Given the description of an element on the screen output the (x, y) to click on. 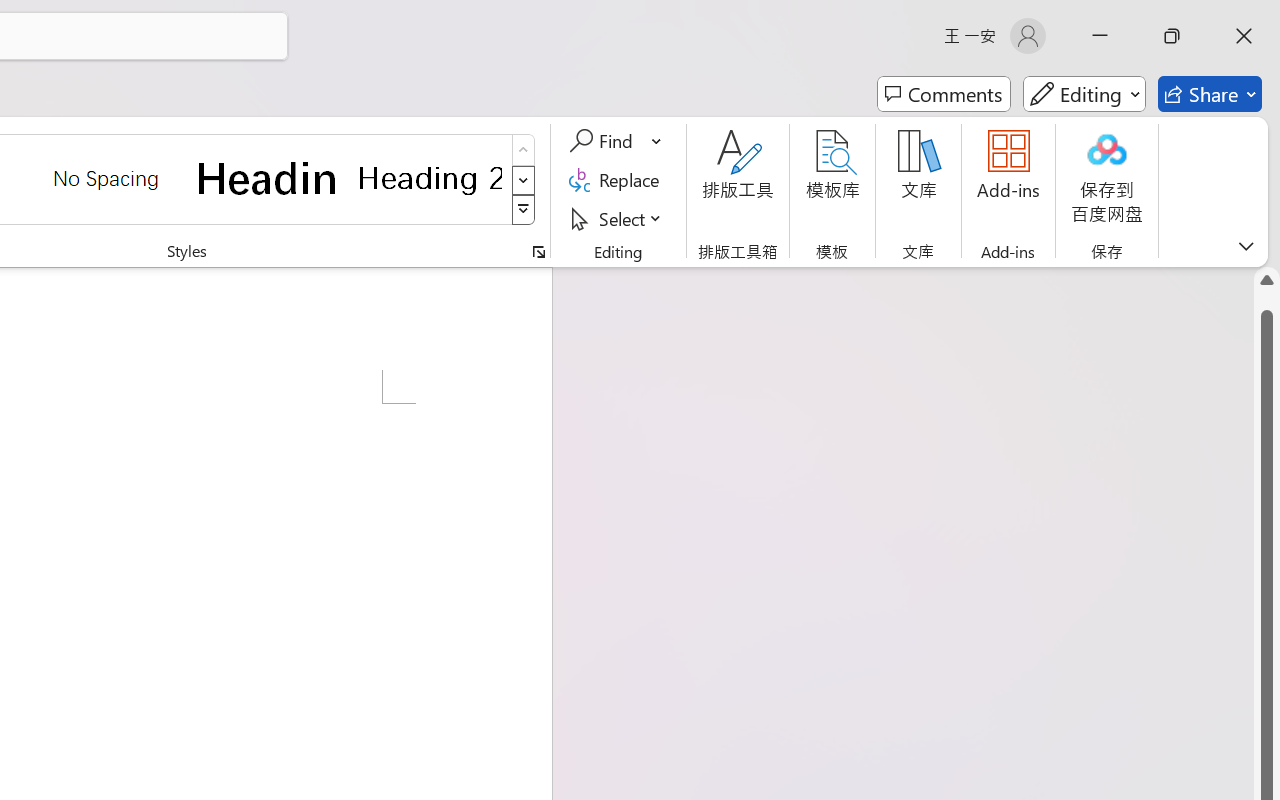
Replace... (617, 179)
Heading 1 (267, 178)
Page up (1267, 301)
Heading 2 (429, 178)
